Given the description of an element on the screen output the (x, y) to click on. 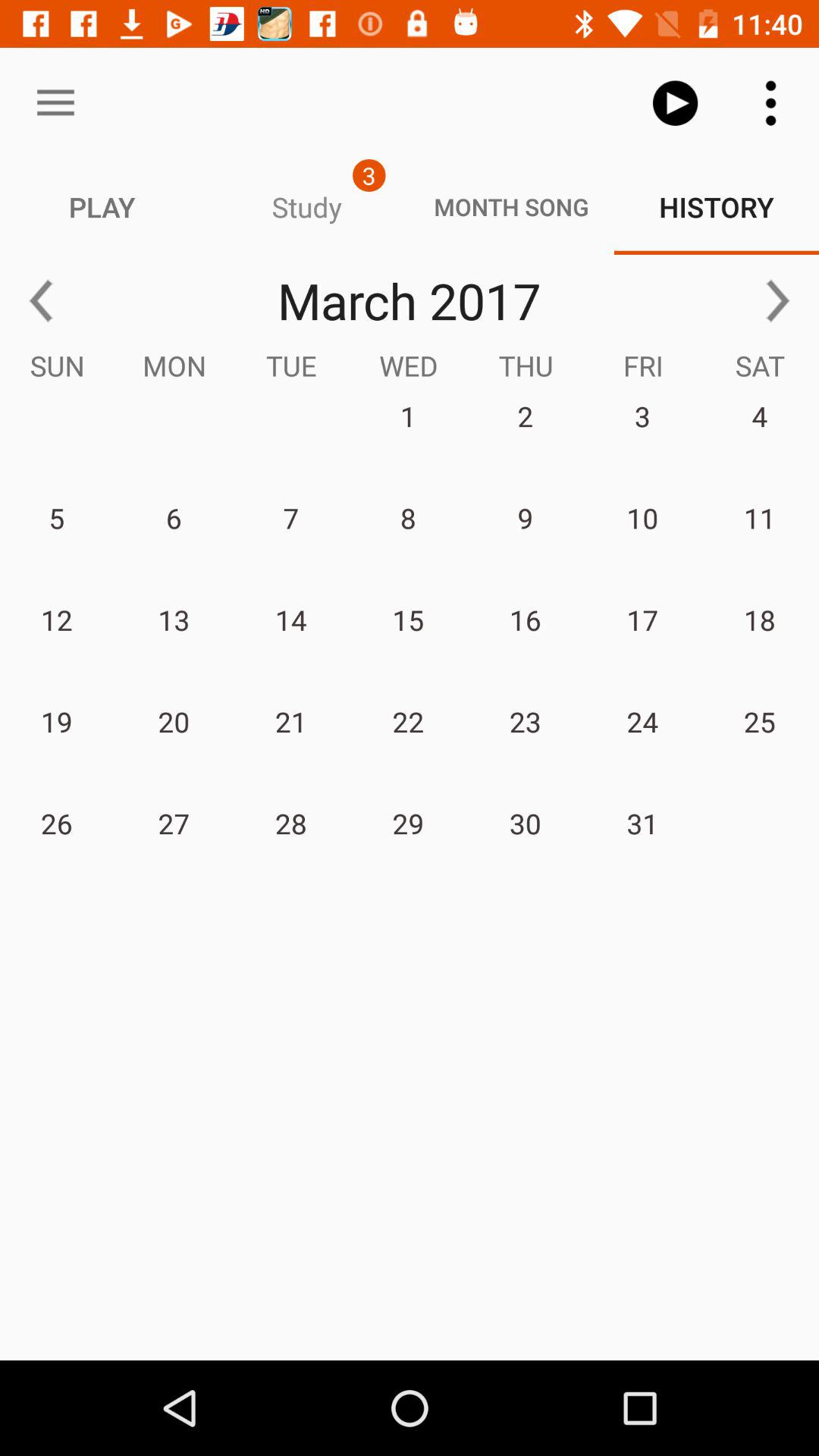
go forward a month (777, 300)
